Given the description of an element on the screen output the (x, y) to click on. 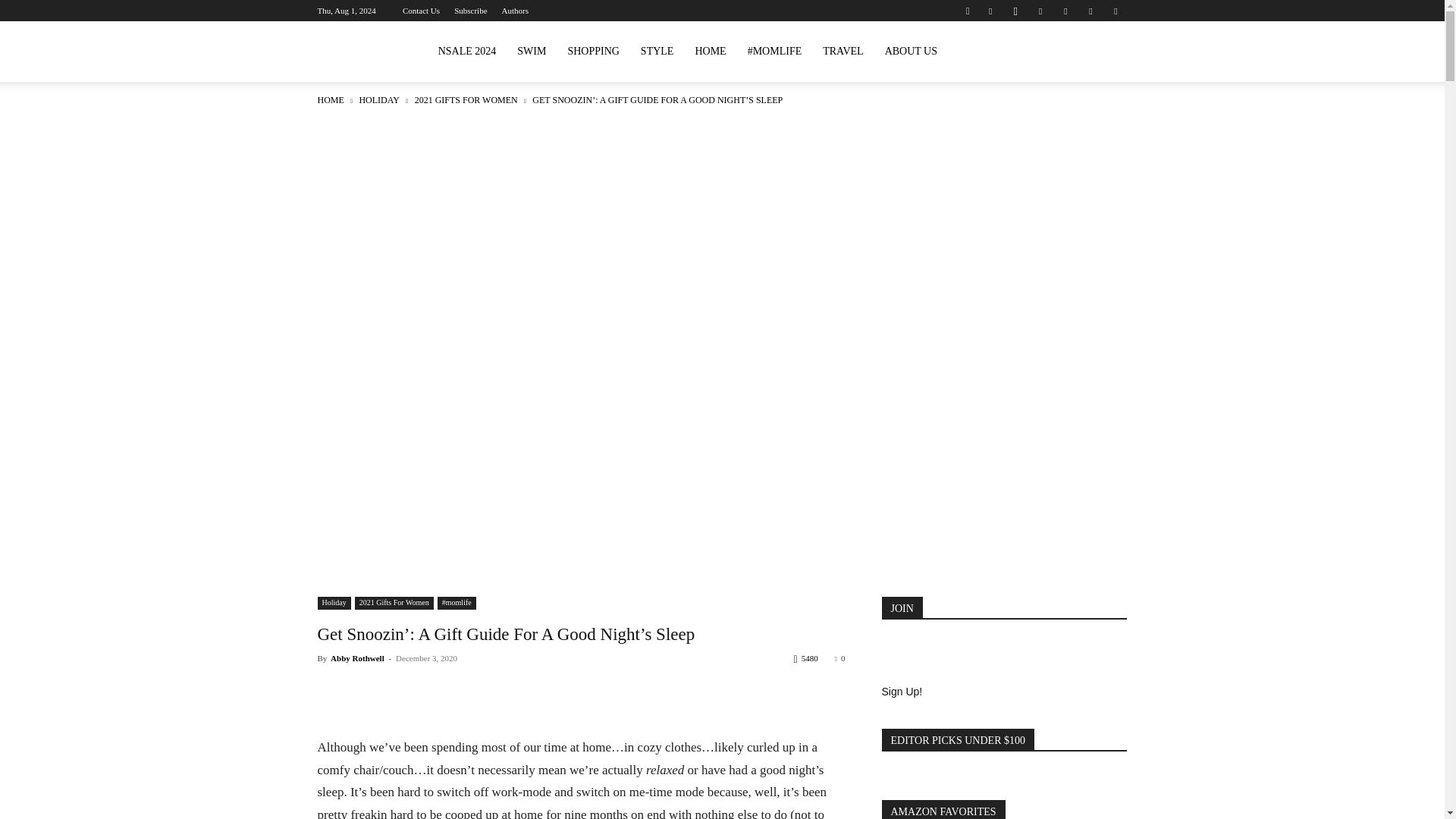
Youtube (1114, 10)
Facebook (989, 10)
Twitter (1090, 10)
TikTok (1065, 10)
View all posts in Holiday (378, 100)
Instagram (1015, 10)
Pinterest (1040, 10)
